Given the description of an element on the screen output the (x, y) to click on. 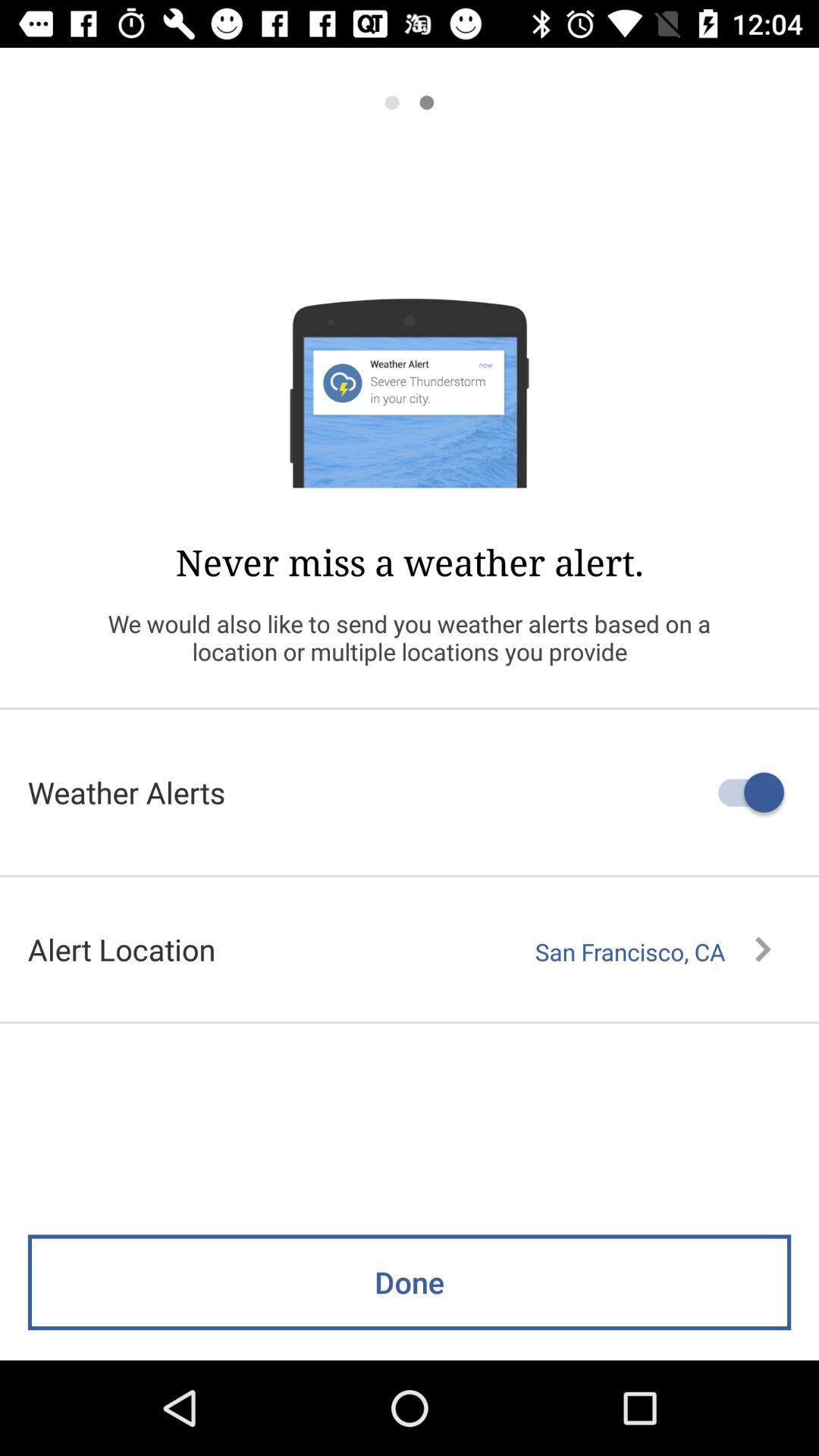
jump until the done icon (409, 1282)
